Given the description of an element on the screen output the (x, y) to click on. 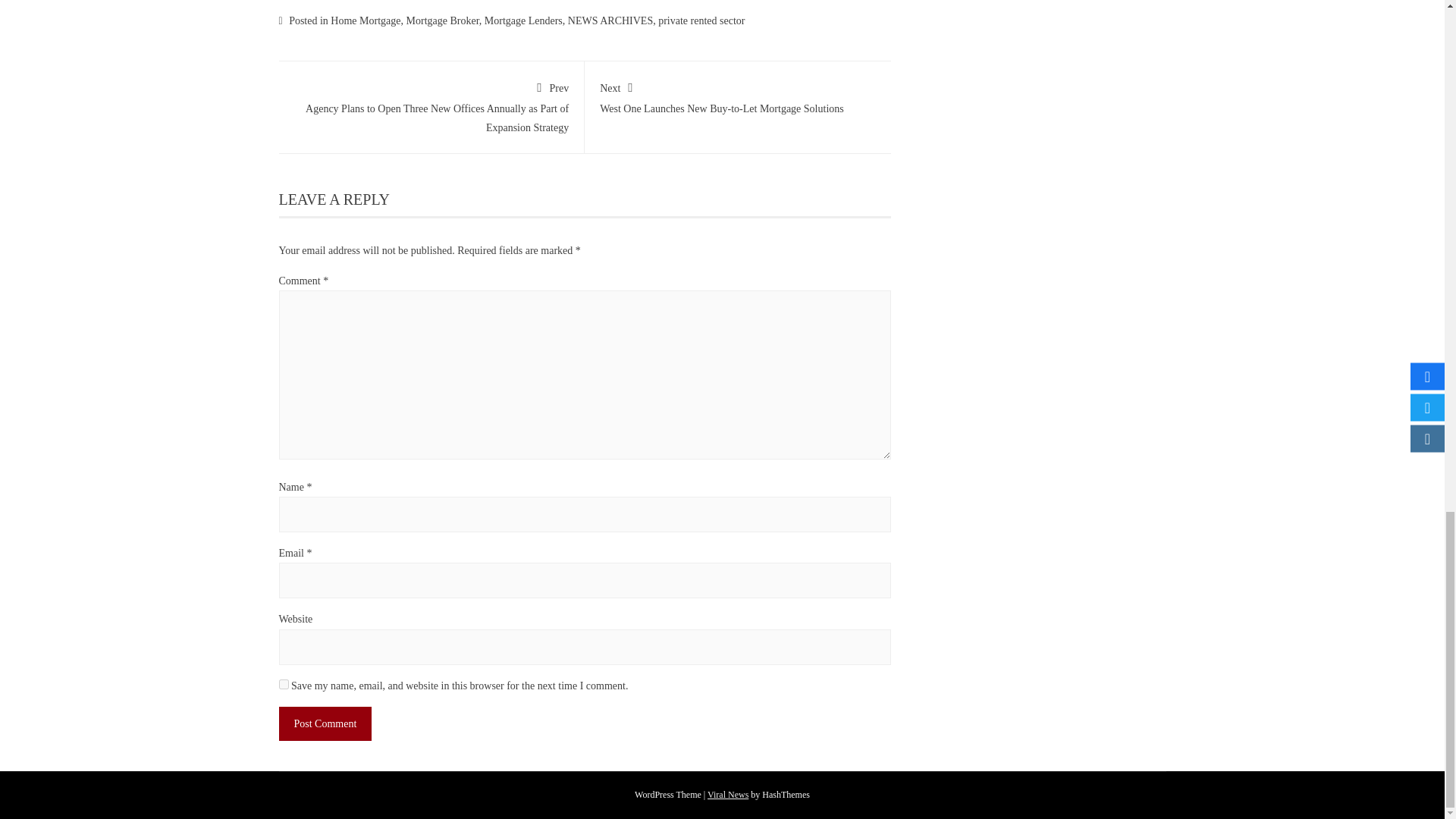
Mortgage Lenders (523, 20)
Post Comment (325, 723)
Home Mortgage (365, 20)
private rented sector (737, 95)
Post Comment (701, 20)
Viral News (325, 723)
NEWS ARCHIVES (727, 794)
yes (609, 20)
Download Viral News (283, 684)
Mortgage Broker (727, 794)
